Given the description of an element on the screen output the (x, y) to click on. 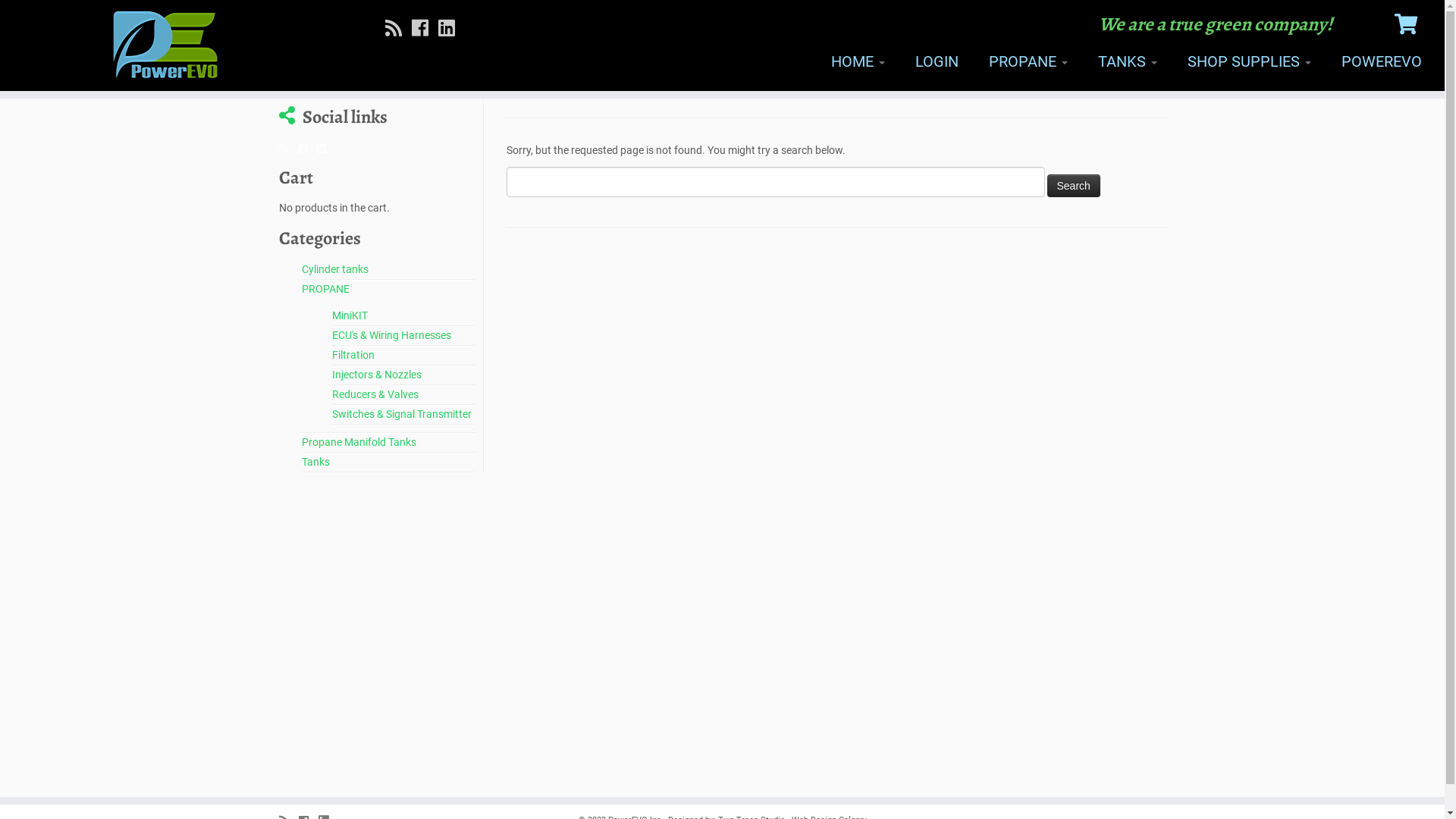
TANKS Element type: text (1127, 61)
Subscribe to my rss feed Element type: hover (288, 148)
Follow me on Facebook Element type: hover (424, 28)
Tanks Element type: text (315, 461)
Cylinder tanks Element type: text (334, 269)
SHOP SUPPLIES Element type: text (1249, 61)
Propane Manifold Tanks Element type: text (358, 442)
Reducers & Valves Element type: text (375, 394)
Injectors & Nozzles Element type: text (376, 374)
Filtration Element type: text (353, 354)
Follow me on LinkedIn Element type: hover (325, 148)
Search Element type: text (1072, 185)
MiniKIT Element type: text (349, 315)
Switches & Signal Transmitter Element type: text (401, 413)
ECU's & Wiring Harnesses Element type: text (391, 335)
View your shopping cart Element type: hover (1407, 20)
Follow me on LinkedIn Element type: hover (451, 28)
Follow me on Facebook Element type: hover (306, 148)
POWEREVO Element type: text (1373, 61)
Skip to content Element type: text (0, 98)
LOGIN Element type: text (936, 61)
PROPANE Element type: text (1027, 61)
PROPANE Element type: text (325, 288)
Subscribe to my rss feed Element type: hover (398, 28)
HOME Element type: text (857, 61)
